Given the description of an element on the screen output the (x, y) to click on. 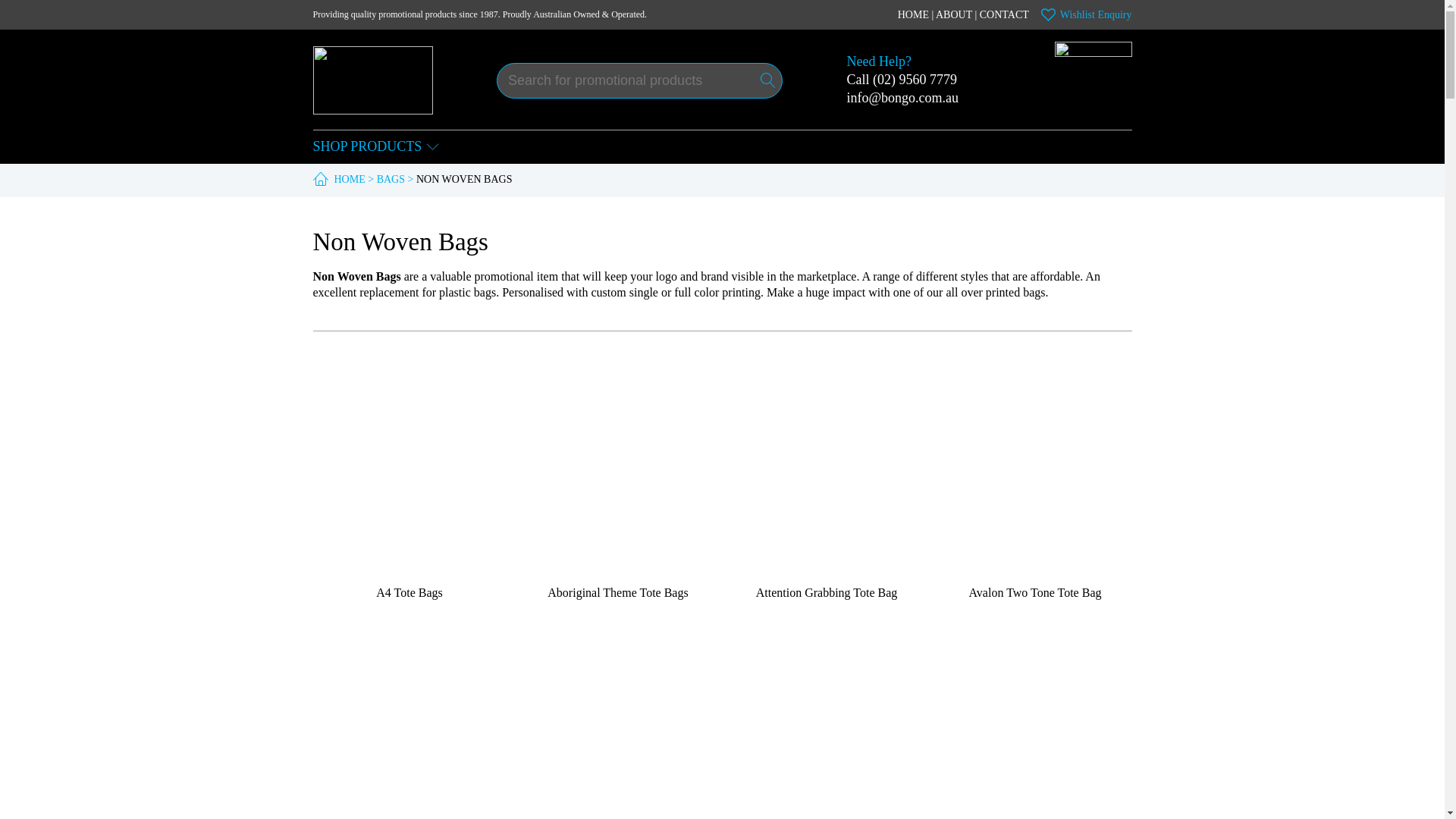
SHOP PRODUCTS (376, 147)
HOME (913, 14)
Wishlist Enquiry (1086, 14)
CONTACT (1004, 14)
ABOUT (954, 14)
Search for: (639, 79)
